Given the description of an element on the screen output the (x, y) to click on. 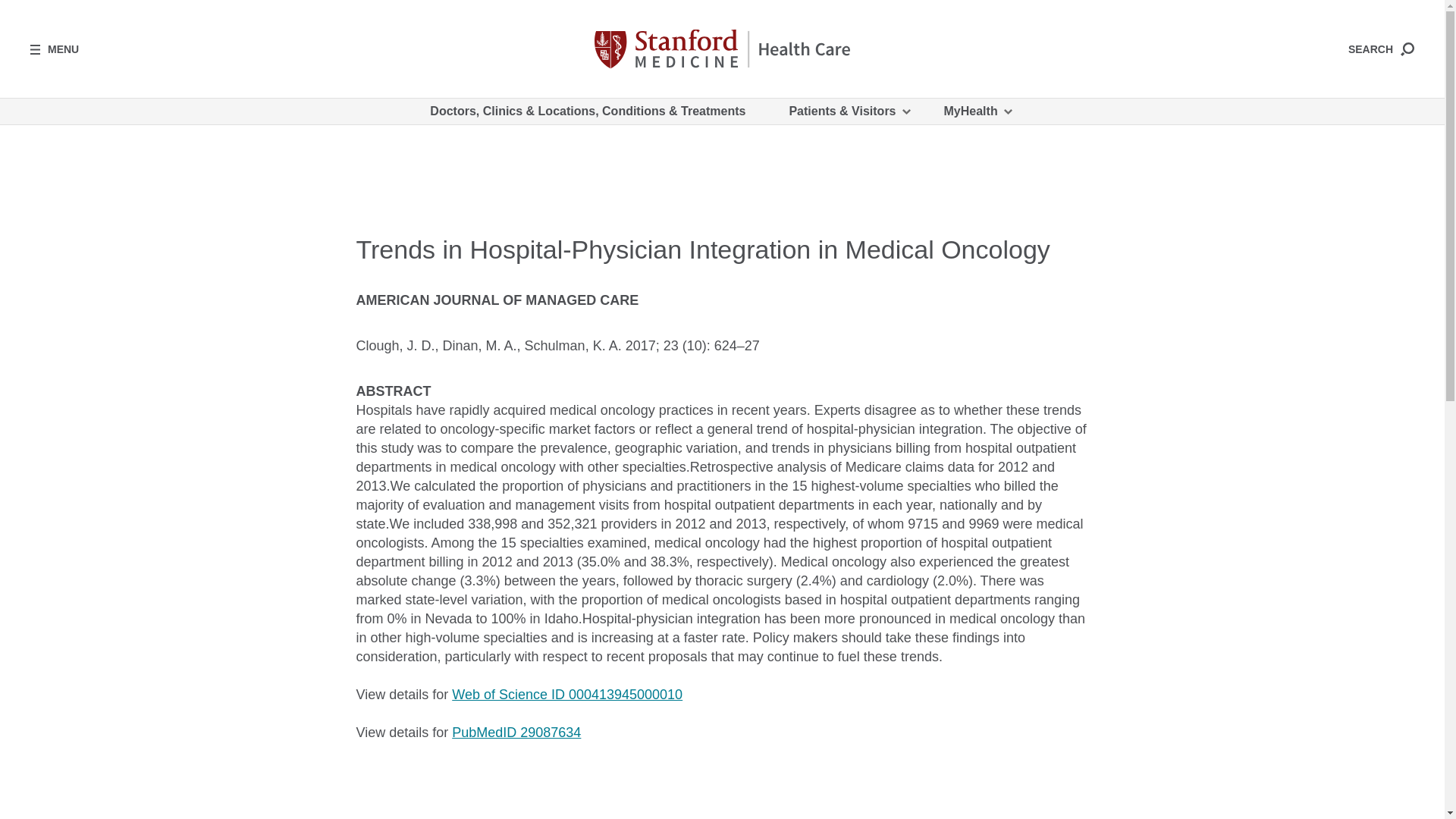
MyHealth (976, 110)
SEARCH (1380, 49)
MENU (54, 49)
